Given the description of an element on the screen output the (x, y) to click on. 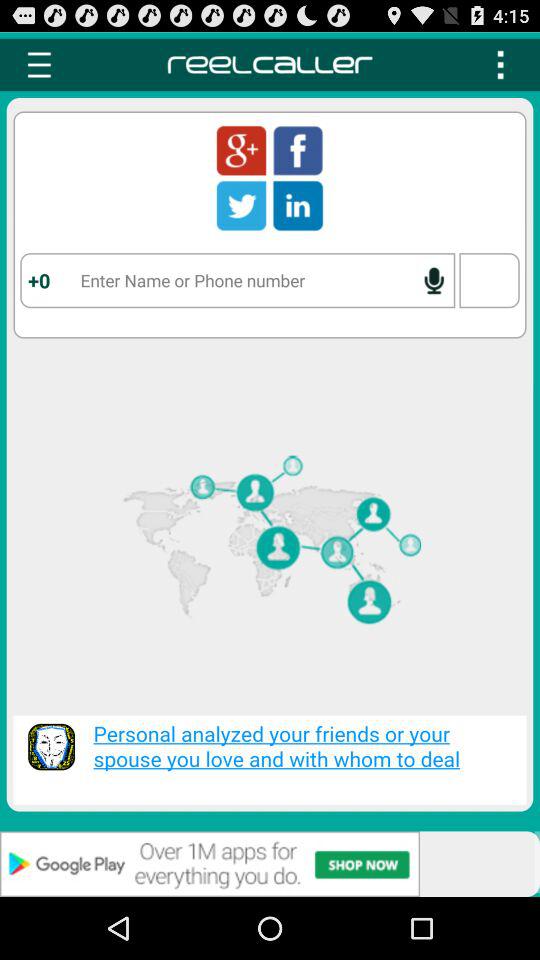
google plus icon (241, 150)
